Given the description of an element on the screen output the (x, y) to click on. 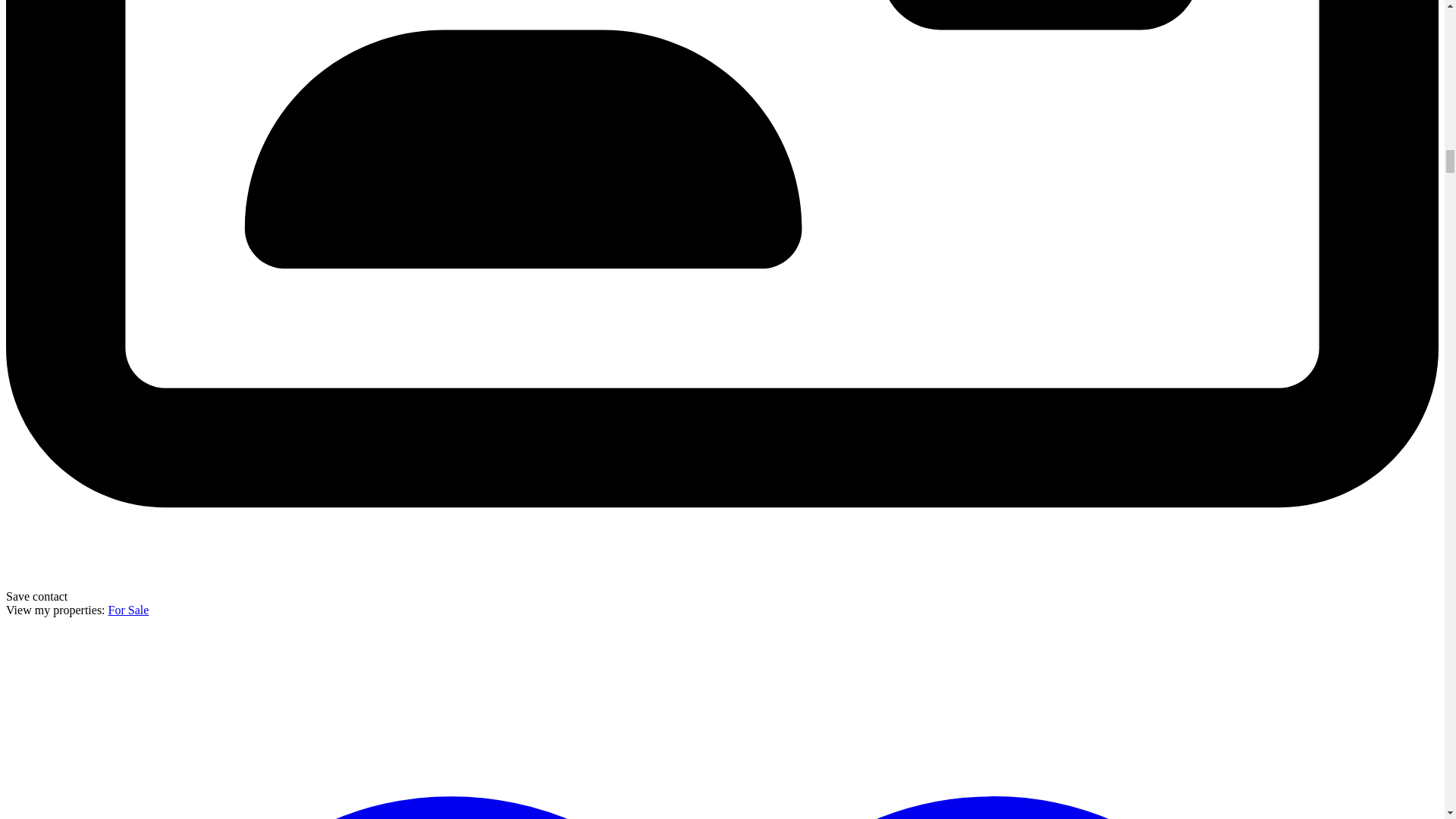
For Sale (128, 609)
